Given the description of an element on the screen output the (x, y) to click on. 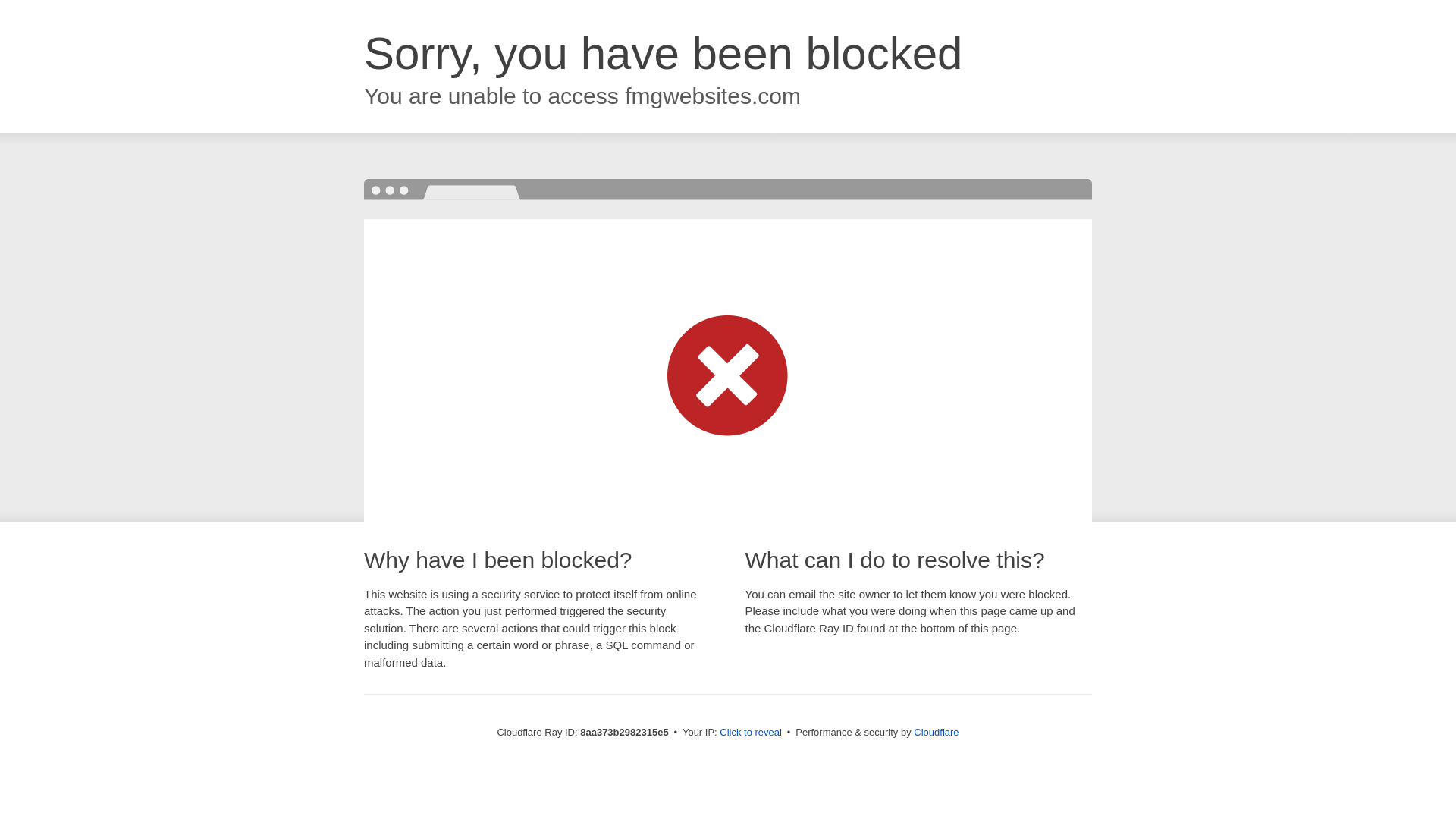
Cloudflare (936, 731)
Click to reveal (750, 732)
